Given the description of an element on the screen output the (x, y) to click on. 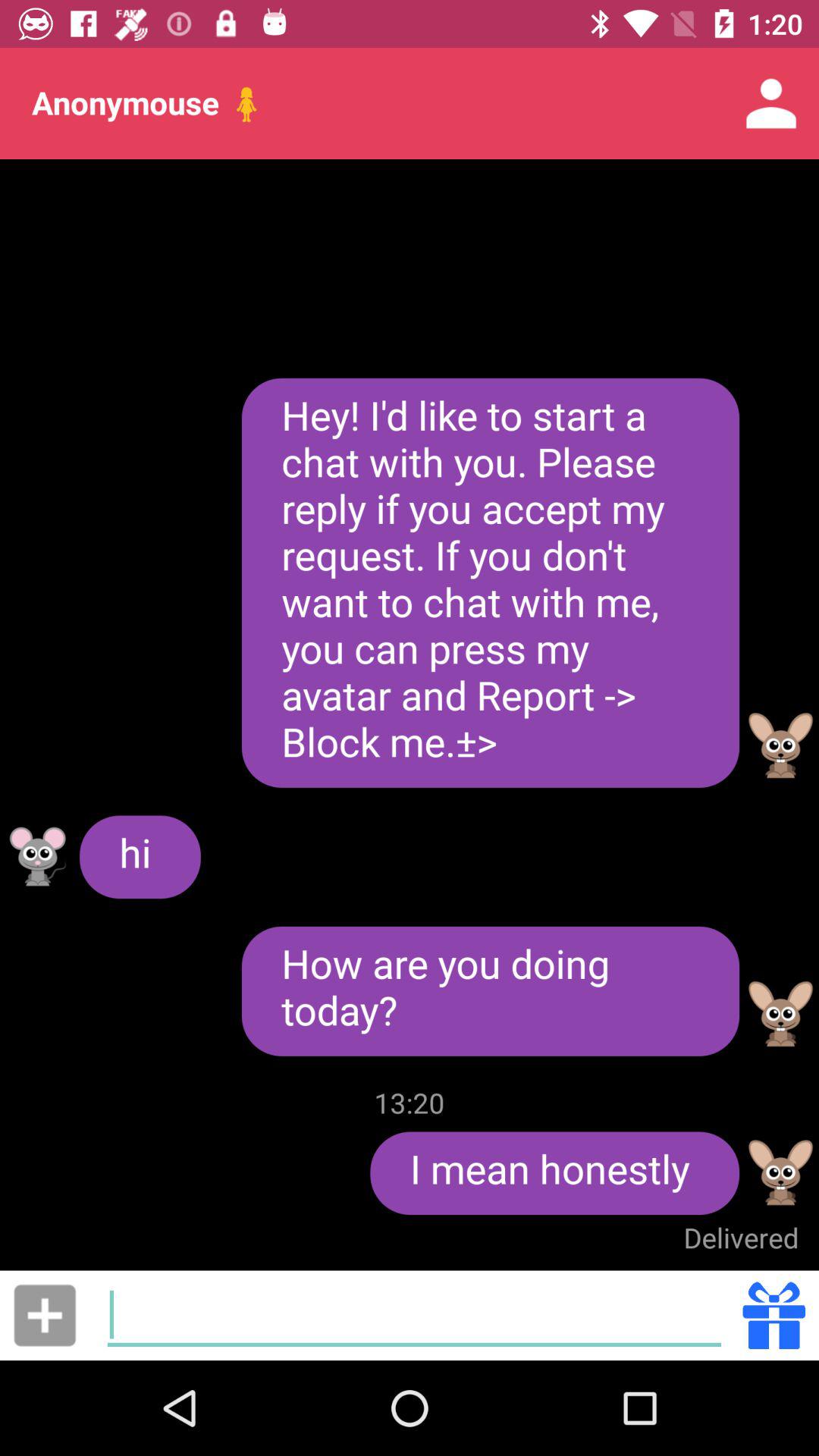
click icon above delivered item (554, 1172)
